Given the description of an element on the screen output the (x, y) to click on. 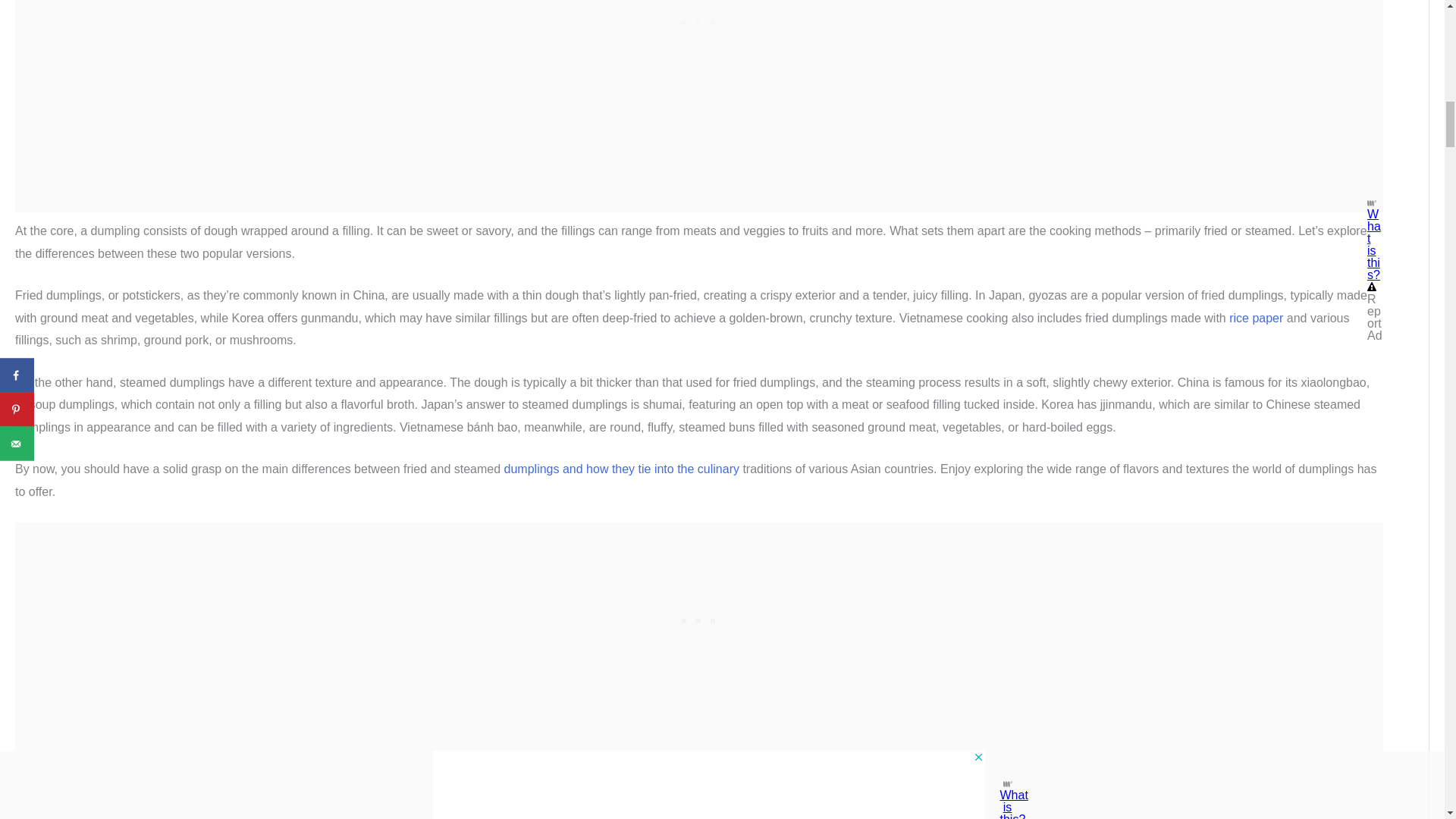
3rd party ad content (698, 616)
